Given the description of an element on the screen output the (x, y) to click on. 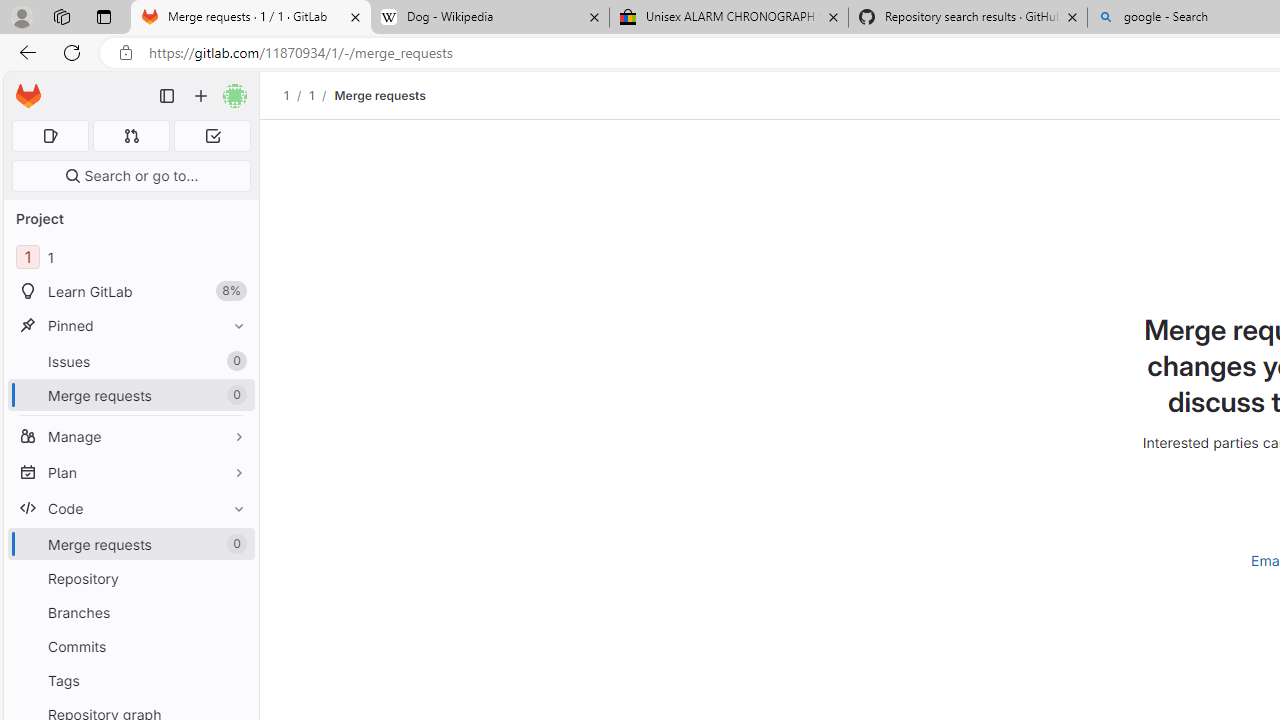
Primary navigation sidebar (167, 96)
Create new... (201, 96)
Merge requests 0 (131, 136)
11 (130, 257)
Pin Tags (234, 680)
Manage (130, 435)
Tags (130, 679)
Pin Repository (234, 578)
Merge requests (380, 95)
Learn GitLab8% (130, 291)
Commits (130, 646)
Plan (130, 471)
Commits (130, 646)
